Given the description of an element on the screen output the (x, y) to click on. 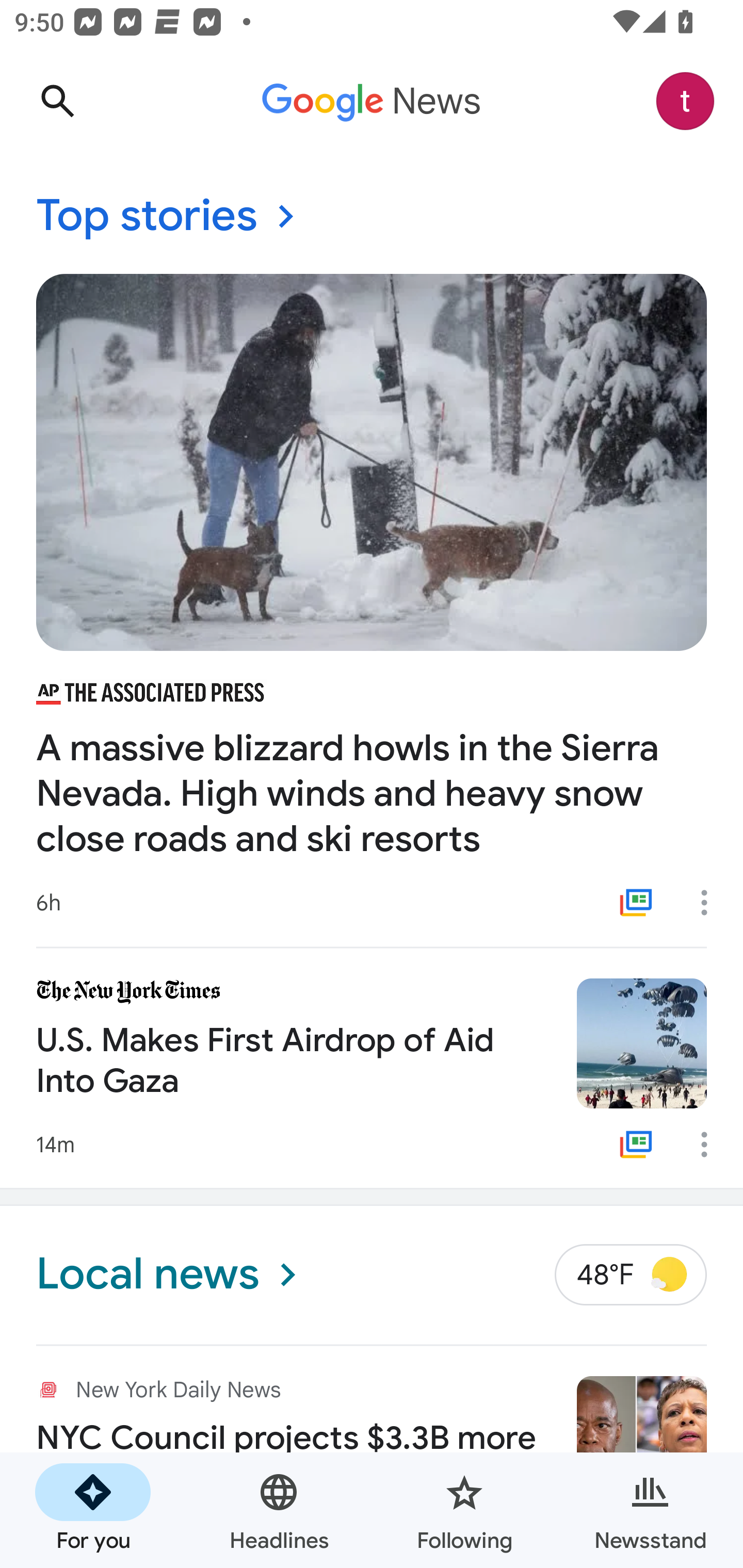
Search (57, 100)
Top stories (371, 216)
More options (711, 902)
More options (711, 1144)
For you (92, 1509)
Headlines (278, 1509)
Following (464, 1509)
Newsstand (650, 1509)
